Given the description of an element on the screen output the (x, y) to click on. 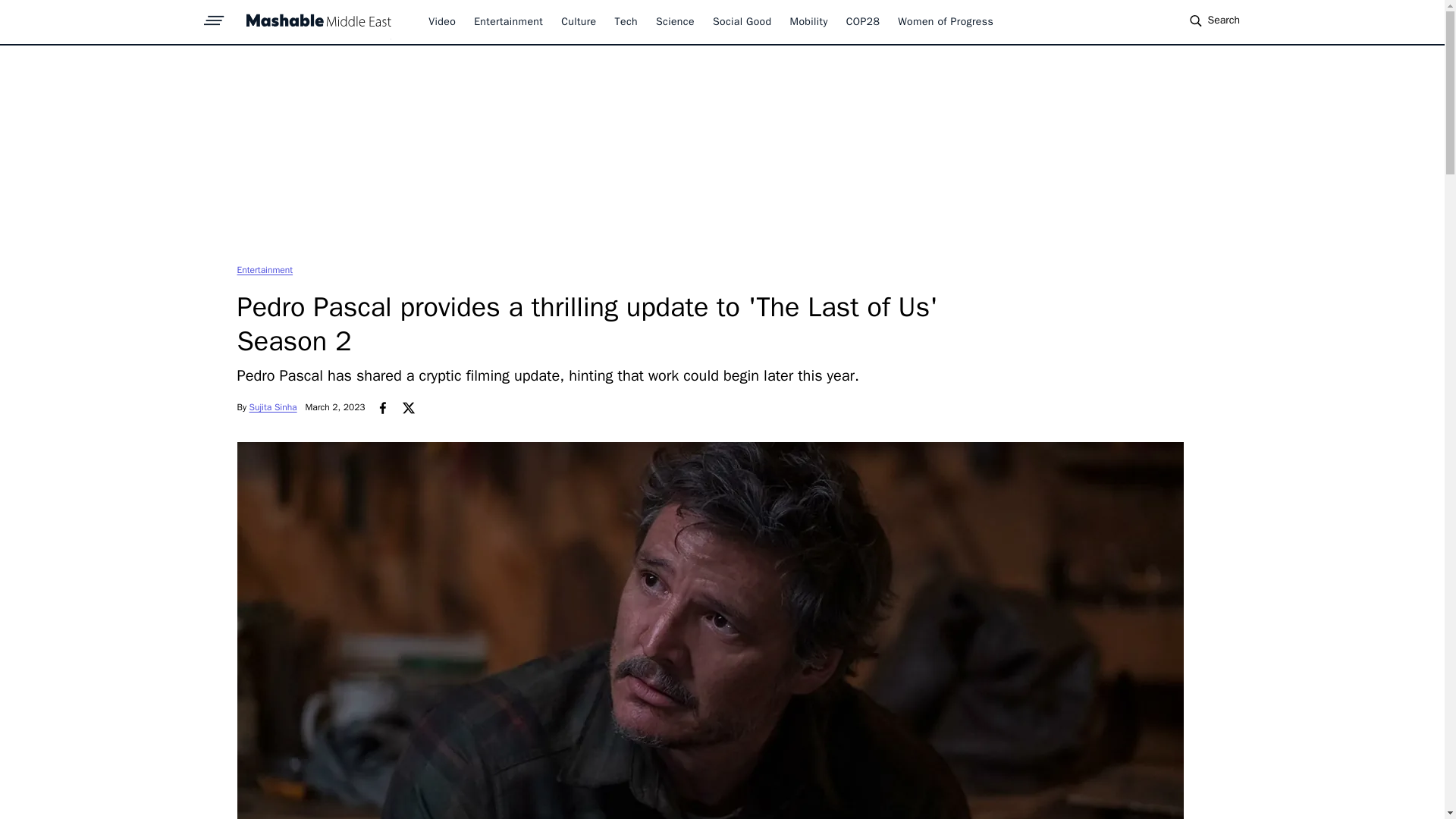
Entertainment (263, 269)
Entertainment (508, 21)
Science (675, 21)
Sujita Sinha (272, 407)
Tech (625, 21)
Social Good (742, 21)
Mobility (809, 21)
Women of Progress (945, 21)
Entertainment (263, 269)
COP28 (862, 21)
Video (441, 21)
Culture (577, 21)
sprite-hamburger (213, 16)
